Given the description of an element on the screen output the (x, y) to click on. 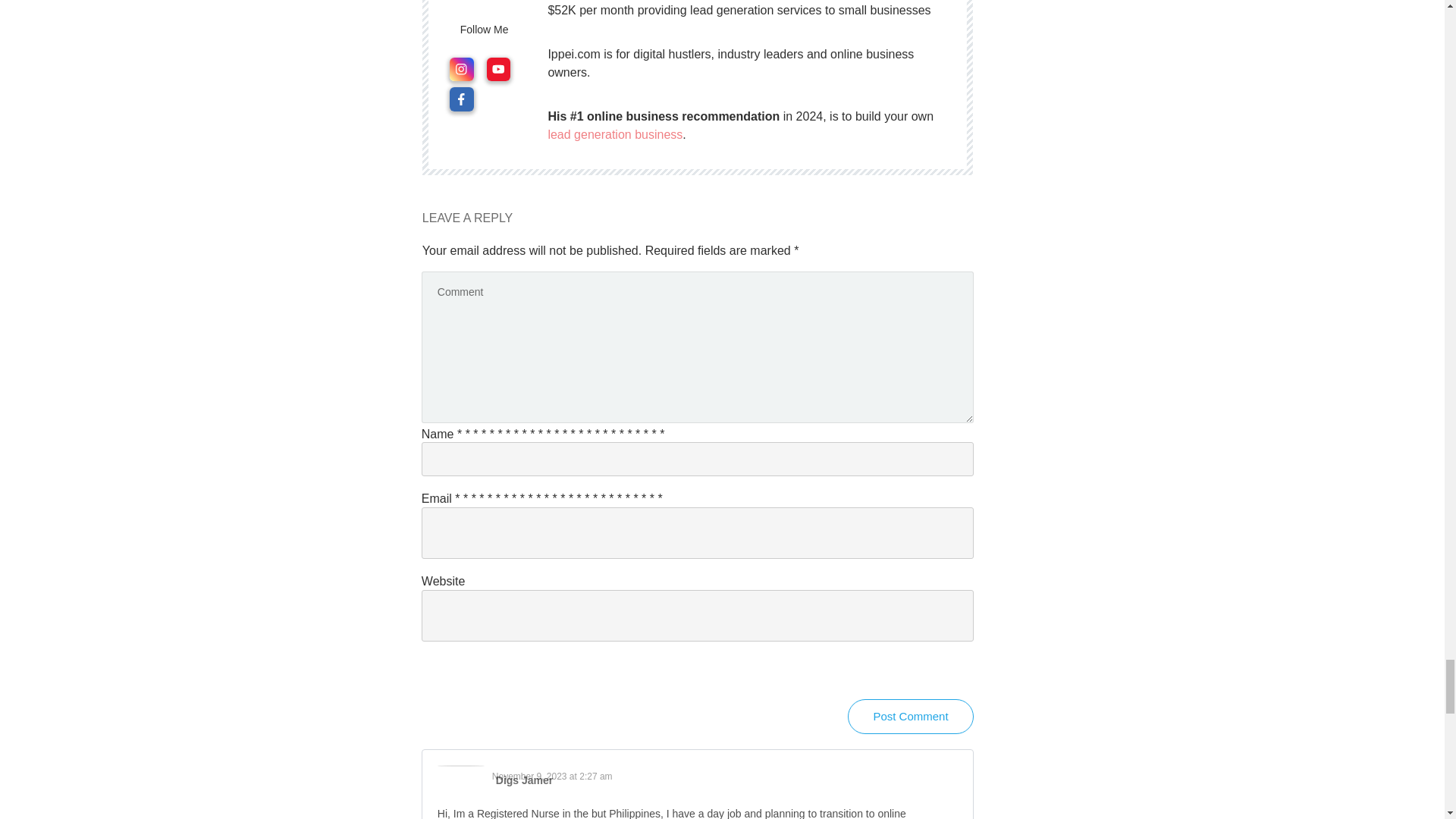
November 9, 2023 at 2:27 am (552, 776)
lead generation business (614, 133)
Post Comment (909, 716)
